Given the description of an element on the screen output the (x, y) to click on. 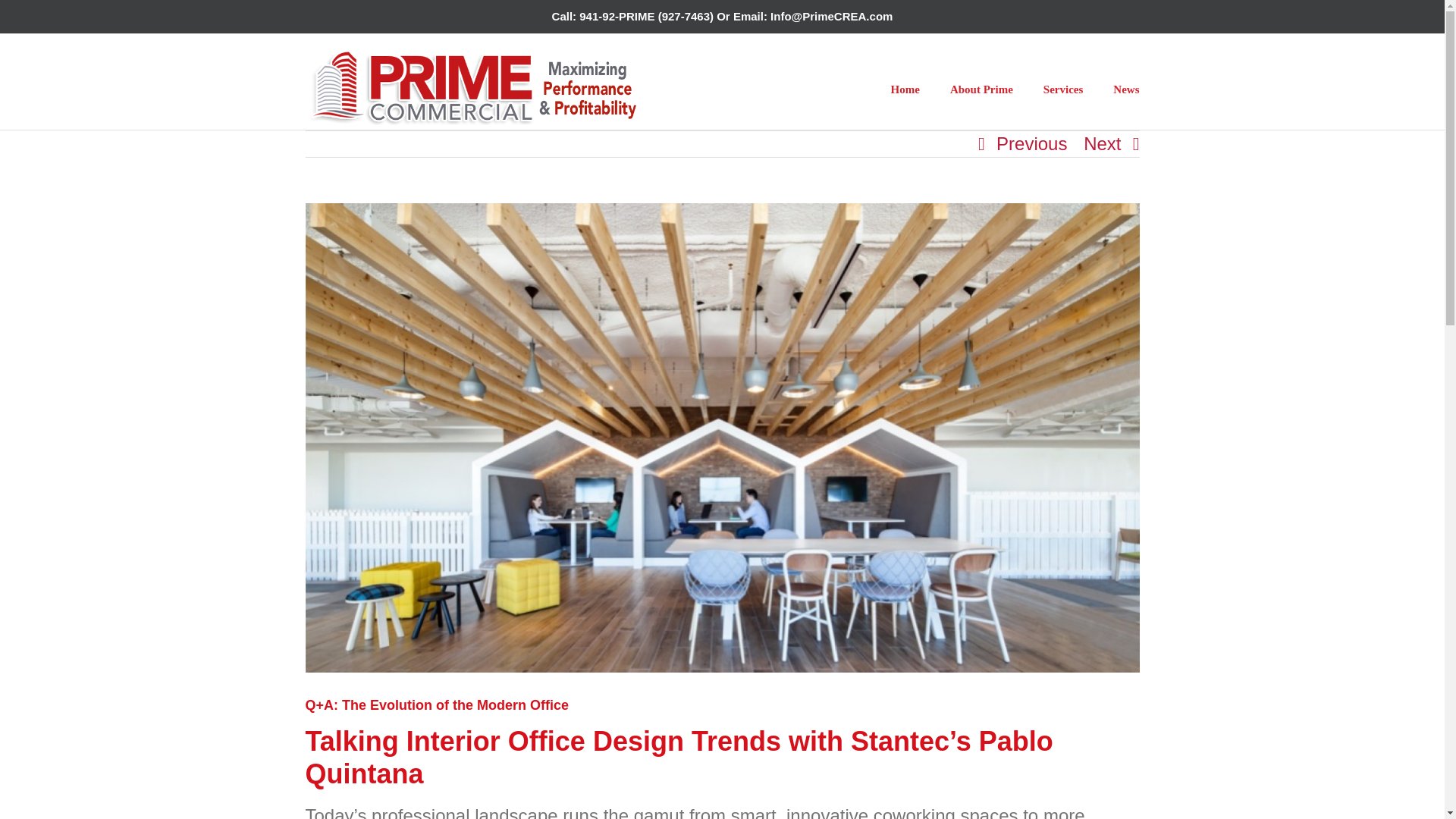
Next (1102, 144)
Previous (1031, 144)
